Given the description of an element on the screen output the (x, y) to click on. 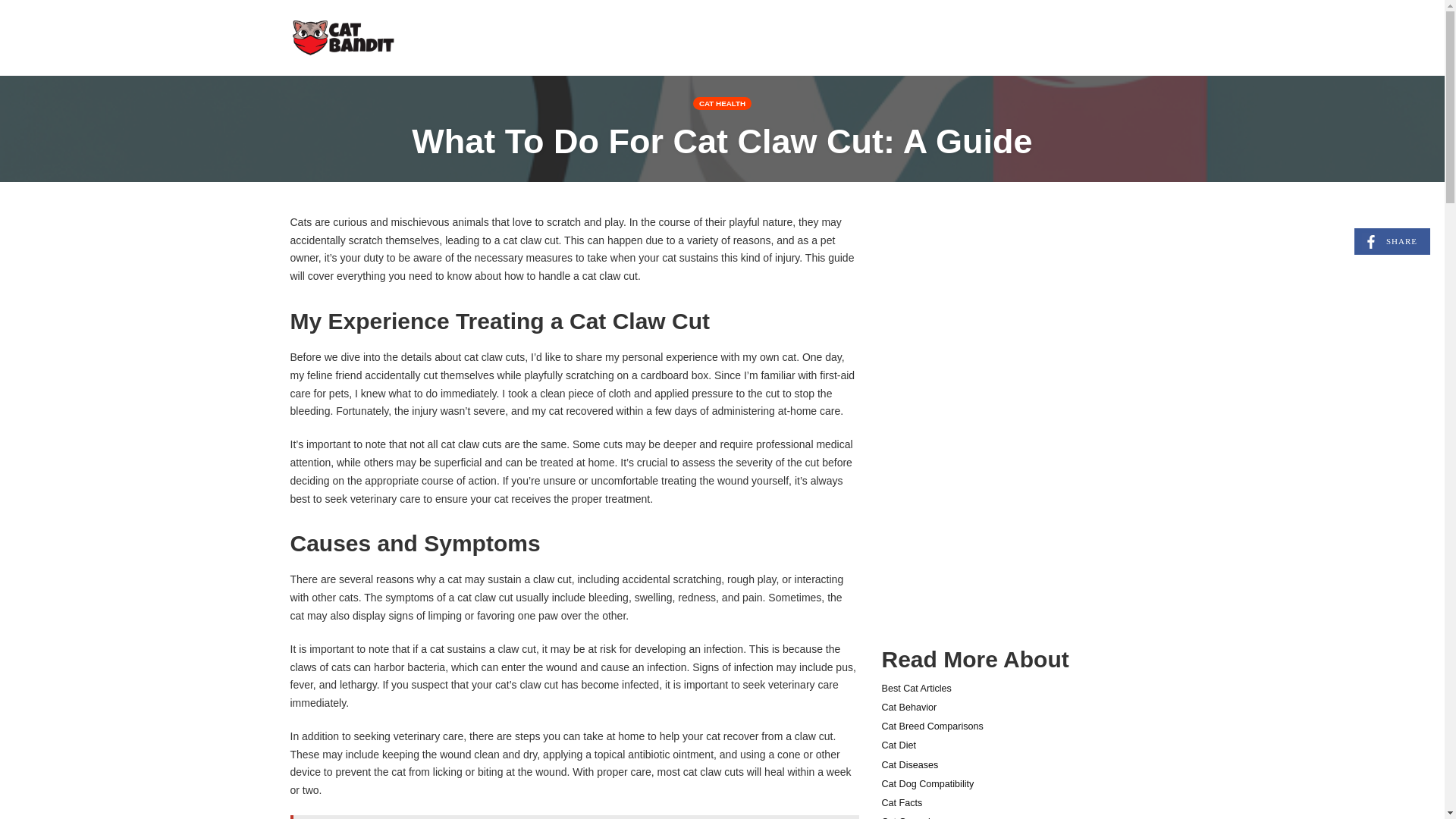
Cat Diseases (908, 765)
Cat Dog Compatibility (927, 783)
Cat Behavior (908, 706)
CAT HEALTH (722, 103)
Cat Breed Comparisons (931, 726)
Best Cat Articles (915, 688)
Cat Grooming (910, 817)
The Cat Bandit Blog (1391, 241)
Cat Diet (343, 37)
What To Do For Cat Claw Cut: A Guide (897, 745)
Read More  What To Do For Cat Teeth Lesion: A Guide (722, 141)
